Given the description of an element on the screen output the (x, y) to click on. 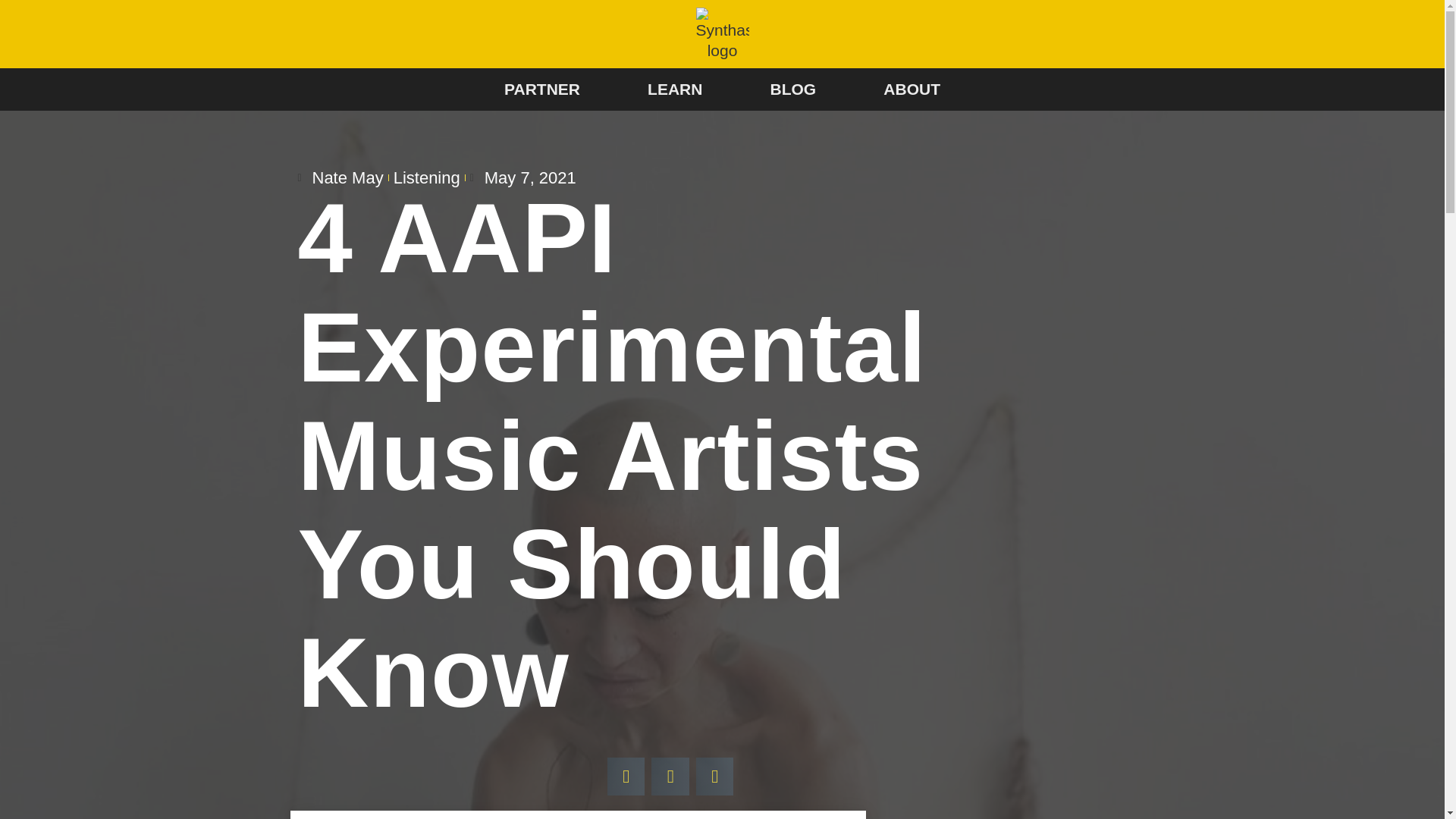
Skip to content (11, 31)
ABOUT (912, 88)
LEARN (675, 88)
BLOG (793, 88)
PARTNER (541, 88)
